Given the description of an element on the screen output the (x, y) to click on. 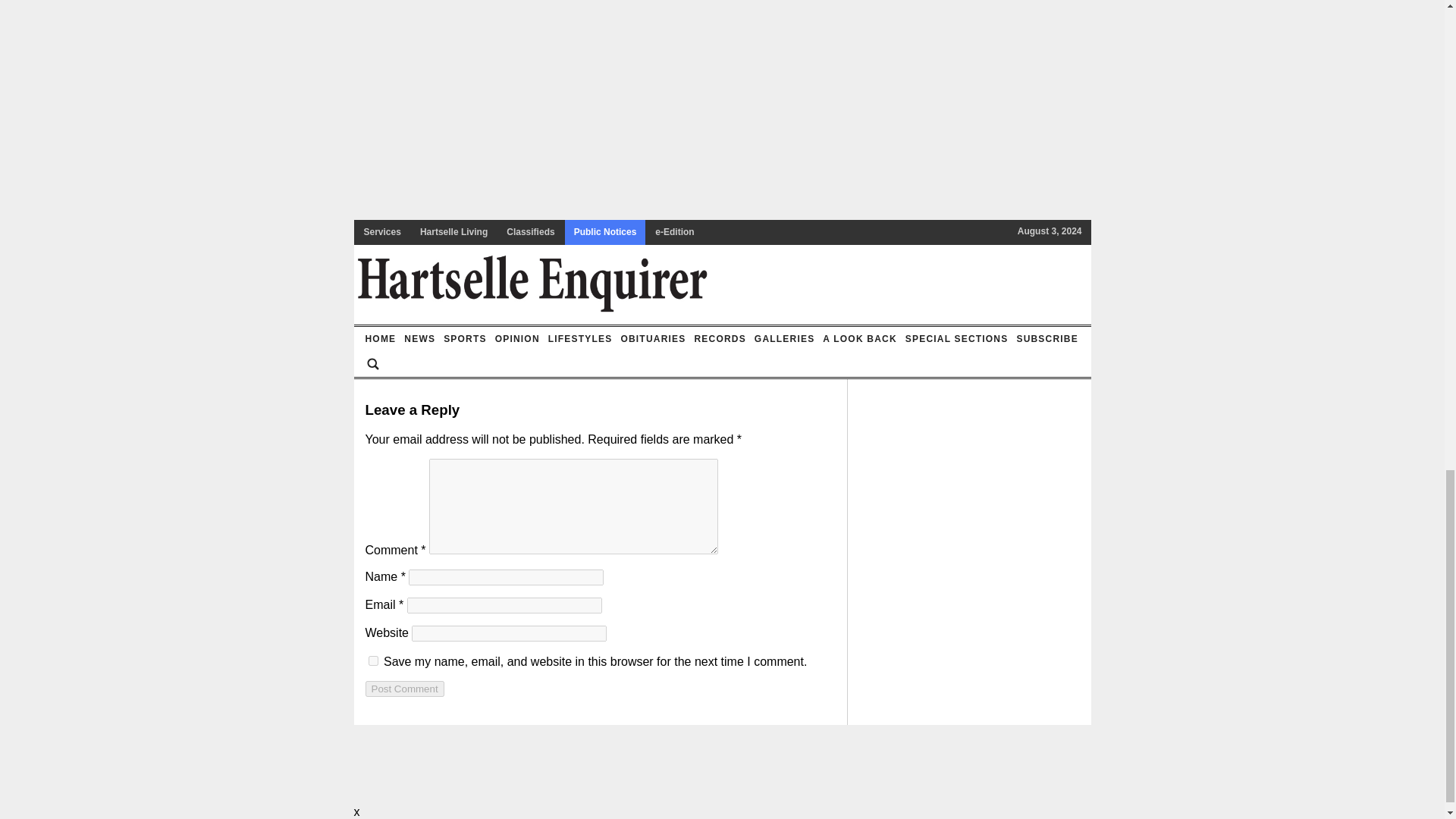
Post Comment (404, 688)
yes (373, 660)
